Given the description of an element on the screen output the (x, y) to click on. 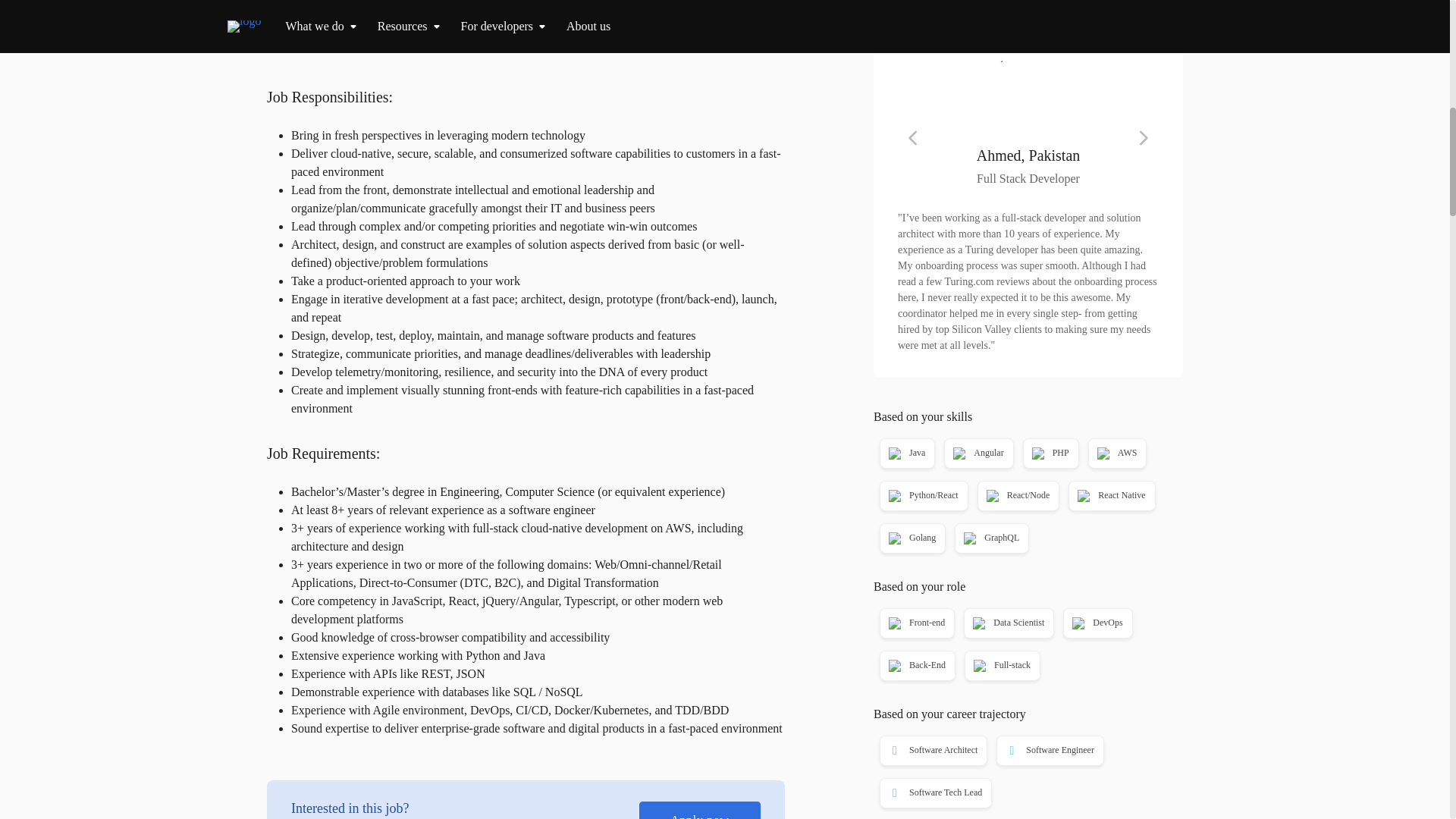
Software Engineer (1048, 750)
DevOps (1096, 622)
Apply now (1027, 4)
AWS (1115, 453)
Golang (911, 537)
Data Scientist (1007, 622)
Front-end (915, 622)
Apply now (699, 810)
Software Tech Lead (933, 793)
Java (905, 453)
